Given the description of an element on the screen output the (x, y) to click on. 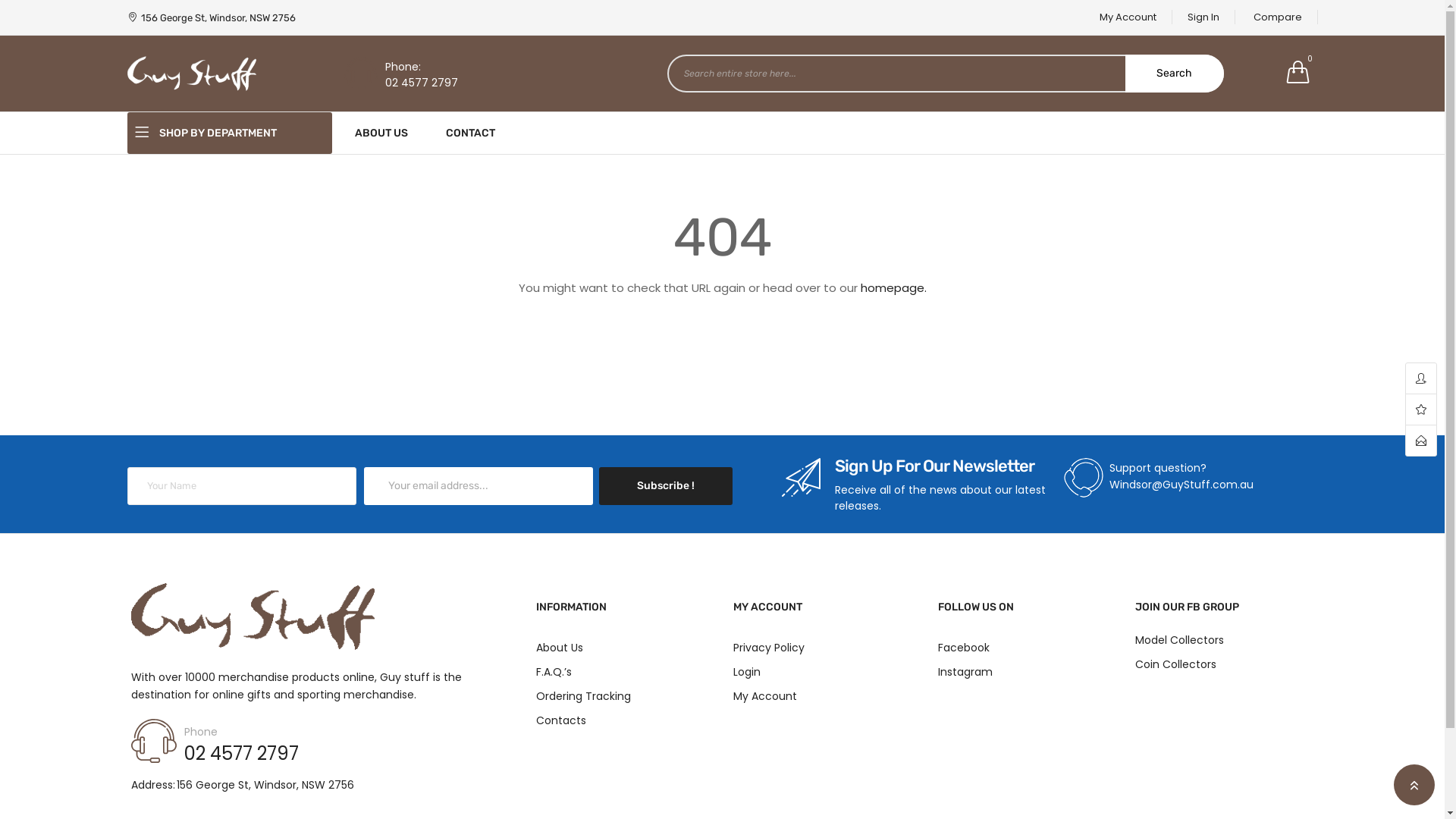
Sign In Element type: text (1203, 16)
About Us Element type: text (623, 647)
My Account Element type: text (1128, 16)
Privacy Policy Element type: text (820, 647)
account Element type: text (1420, 378)
CONTACT Element type: text (470, 132)
02 4577 2797 Element type: text (421, 82)
Guy Stuff  Element type: hover (191, 73)
Login Element type: text (820, 671)
homepage. Element type: text (892, 287)
Model Collectors Element type: text (1222, 639)
contact Element type: text (1420, 440)
0 Element type: text (1297, 71)
Compare Element type: text (1277, 16)
Subscribe ! Element type: text (665, 486)
My Account Element type: text (820, 695)
Search Element type: text (1174, 73)
Ordering Tracking Element type: text (623, 695)
Instagram Element type: text (1025, 671)
wishlist Element type: text (1420, 409)
ABOUT US Element type: text (380, 132)
Contacts Element type: text (623, 720)
Coin Collectors Element type: text (1222, 664)
Facebook Element type: text (1025, 647)
